Given the description of an element on the screen output the (x, y) to click on. 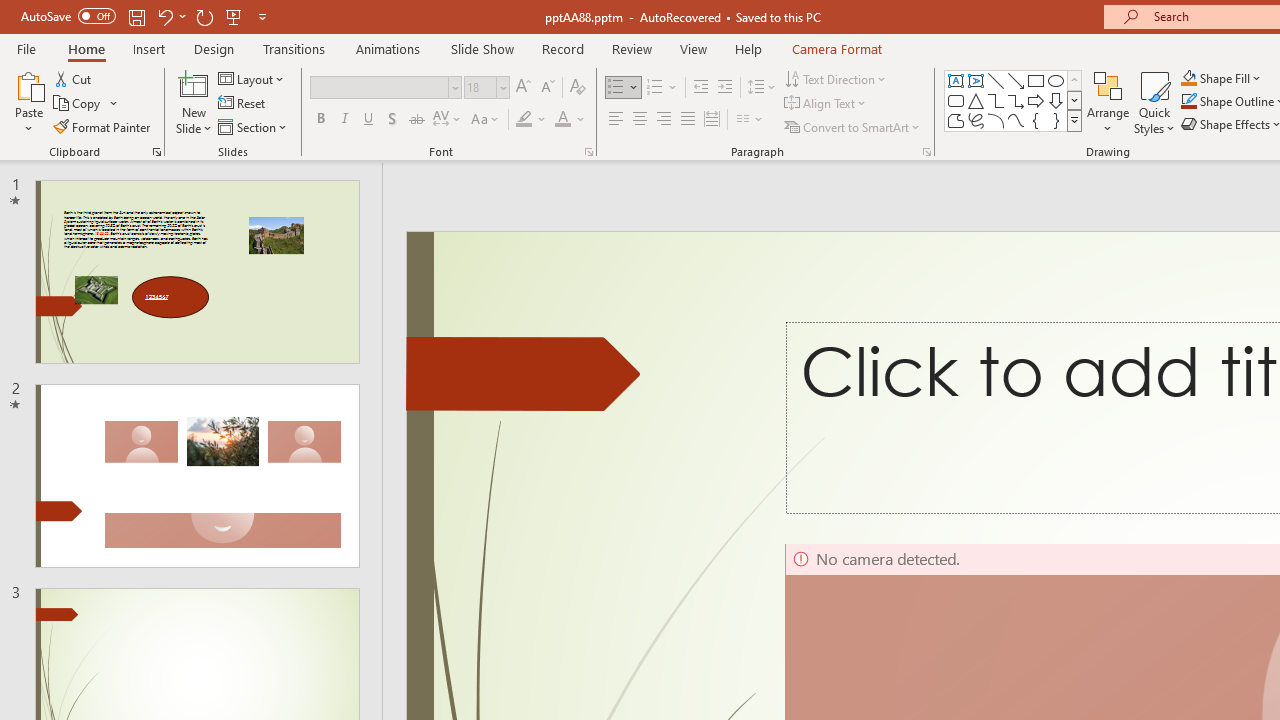
Shape Outline Teal, Accent 1 (1188, 101)
